Given the description of an element on the screen output the (x, y) to click on. 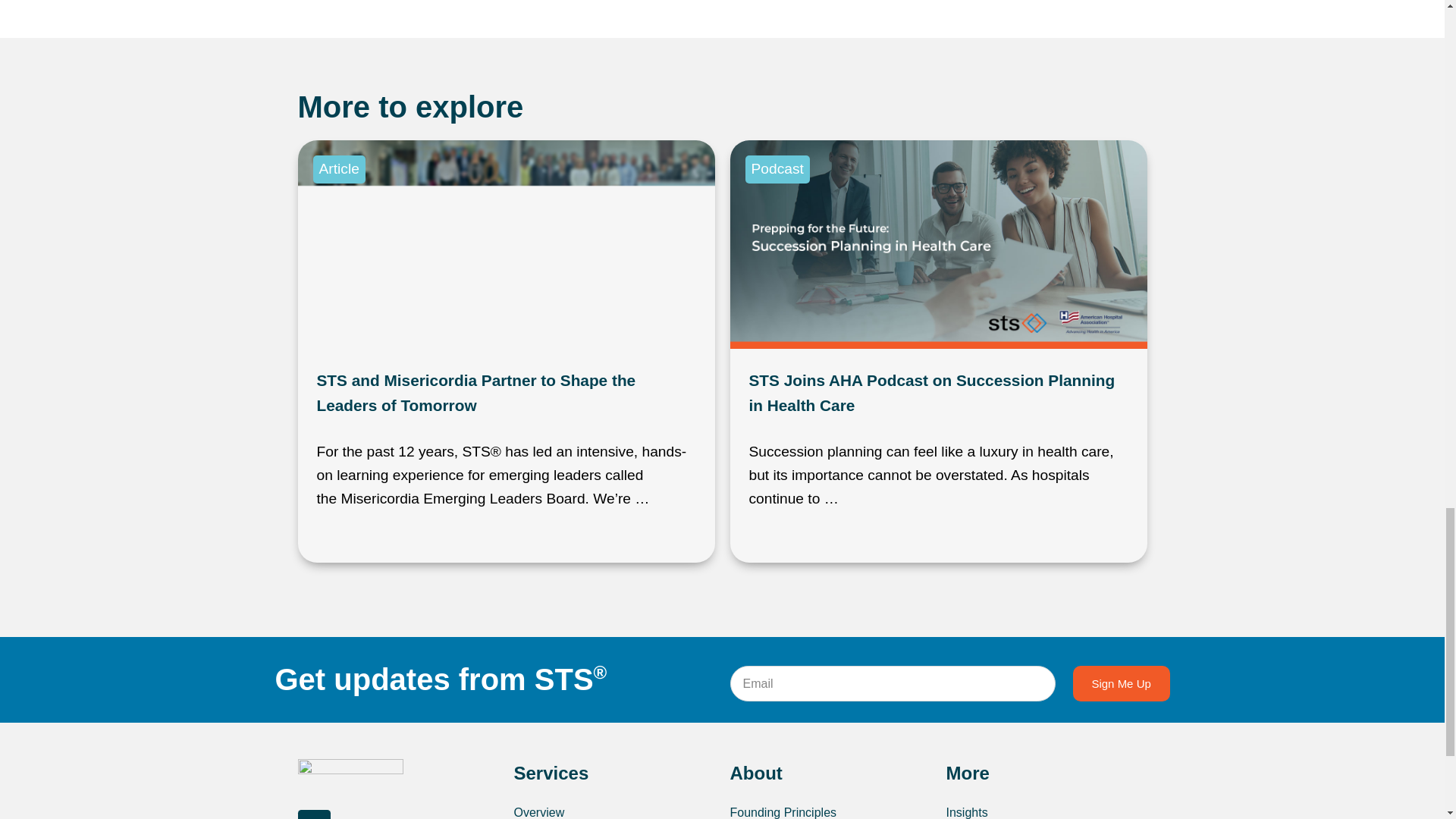
STS Joins AHA Podcast on Succession Planning in Health Care (932, 392)
Sign Me Up (1121, 683)
Founding Principles (829, 811)
Insights (1046, 811)
Overview (613, 811)
